Given the description of an element on the screen output the (x, y) to click on. 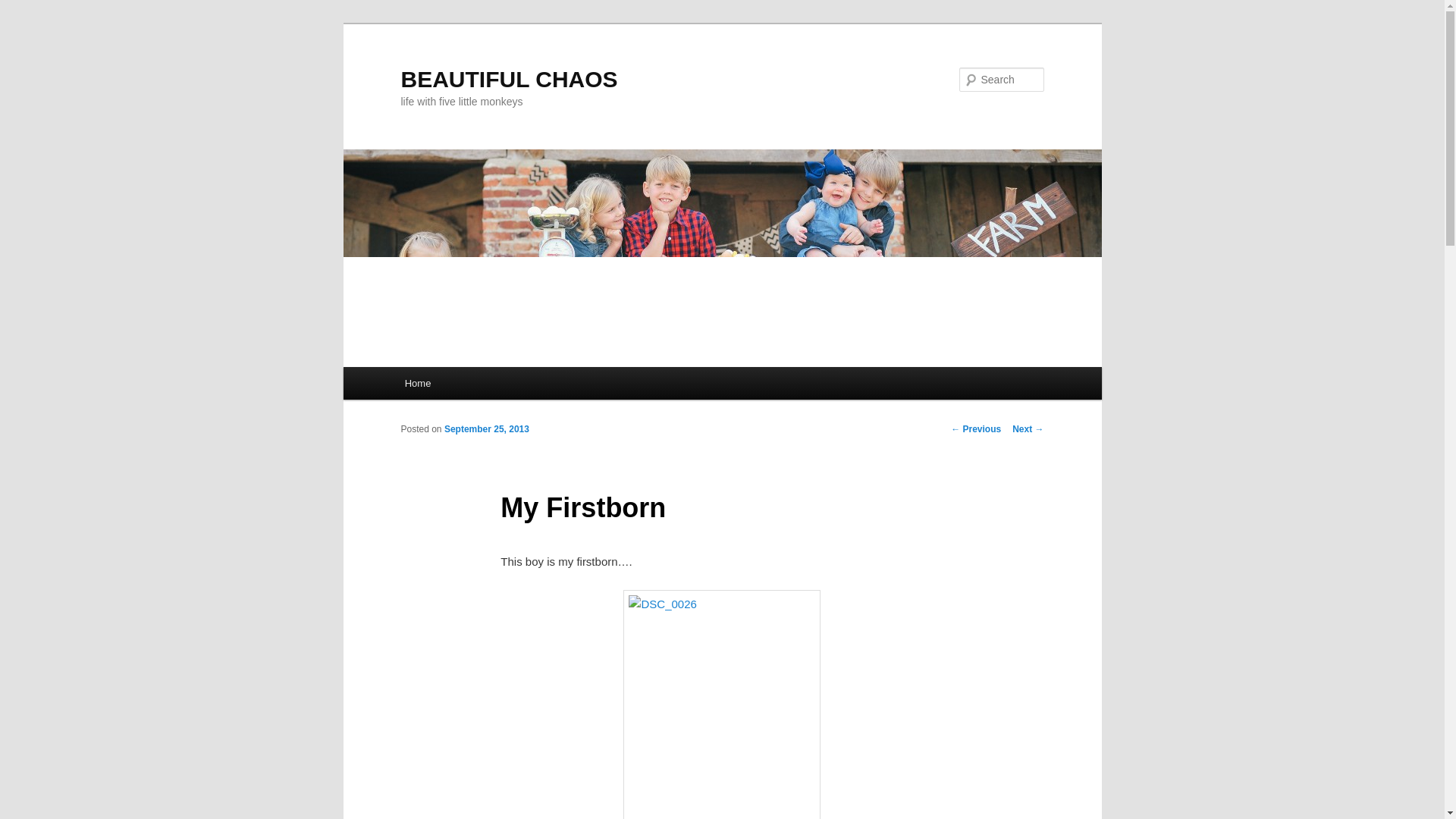
Search (24, 8)
September 25, 2013 (486, 429)
Home (417, 382)
BEAUTIFUL CHAOS (508, 78)
9:25 pm (486, 429)
